Given the description of an element on the screen output the (x, y) to click on. 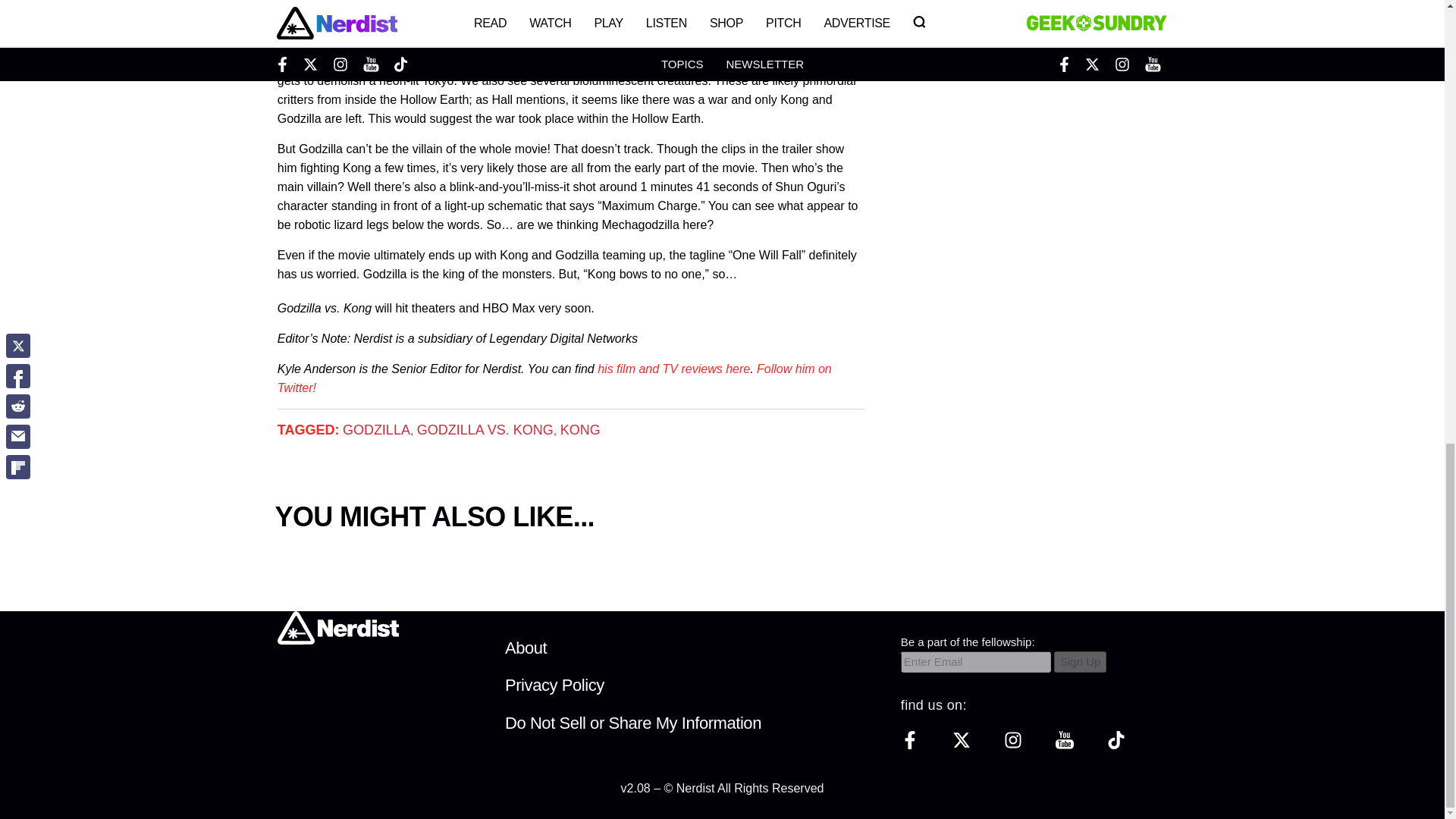
Follow him on Twitter! (554, 377)
GODZILLA VS. KONG (484, 429)
Sign Up (1080, 662)
About (526, 647)
KONG (579, 429)
GODZILLA (376, 429)
Do Not Sell or Share My Information (633, 722)
Privacy Policy (554, 684)
his film and TV reviews here (672, 368)
